Given the description of an element on the screen output the (x, y) to click on. 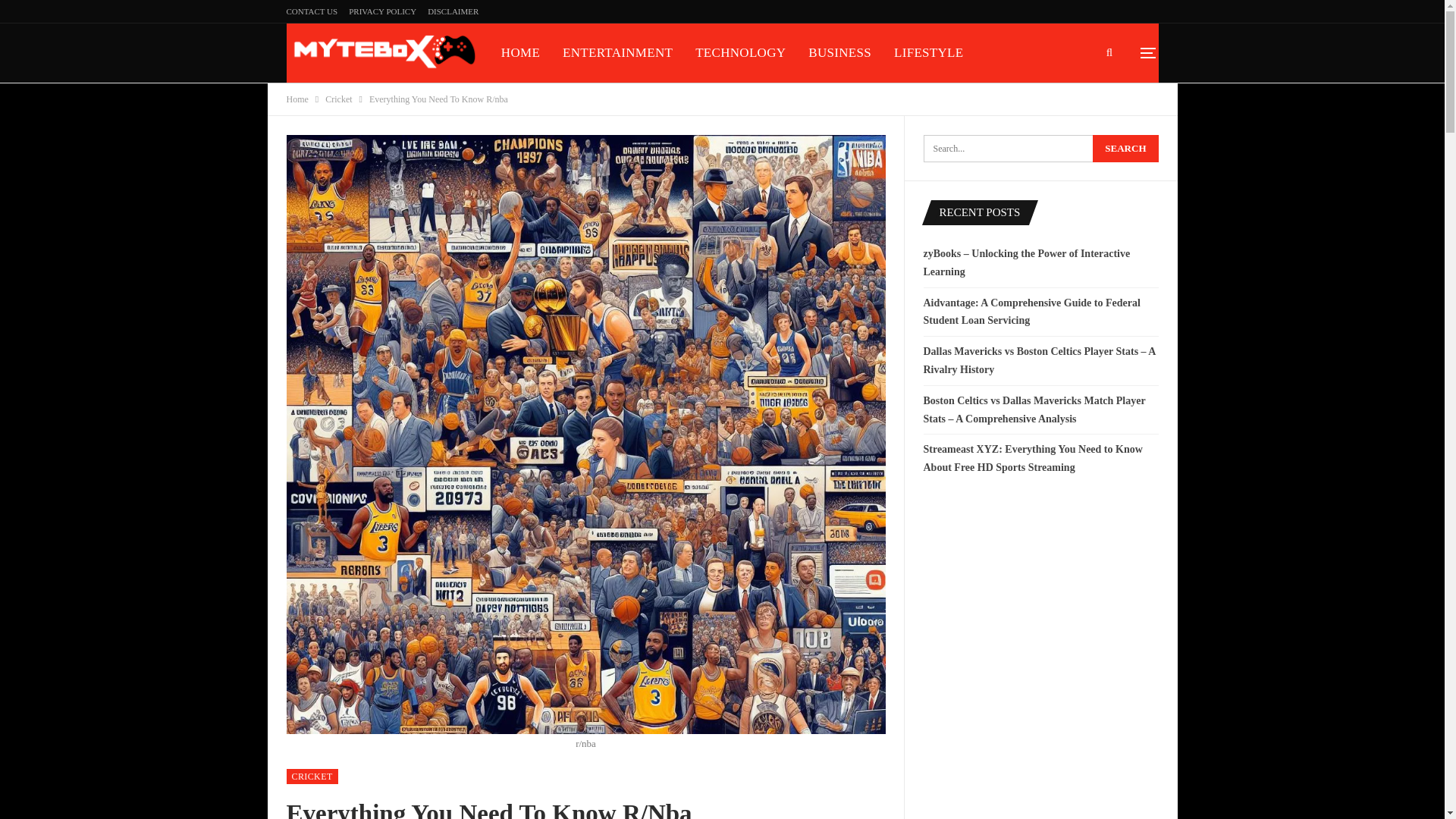
CRICKET (311, 776)
DISCLAIMER (453, 10)
PRIVACY POLICY (554, 111)
MORE (650, 111)
PRIVACY POLICY (382, 10)
Search (1125, 148)
Home (297, 98)
HOME (520, 52)
TECHNOLOGY (740, 52)
CONTACT US (311, 10)
